Given the description of an element on the screen output the (x, y) to click on. 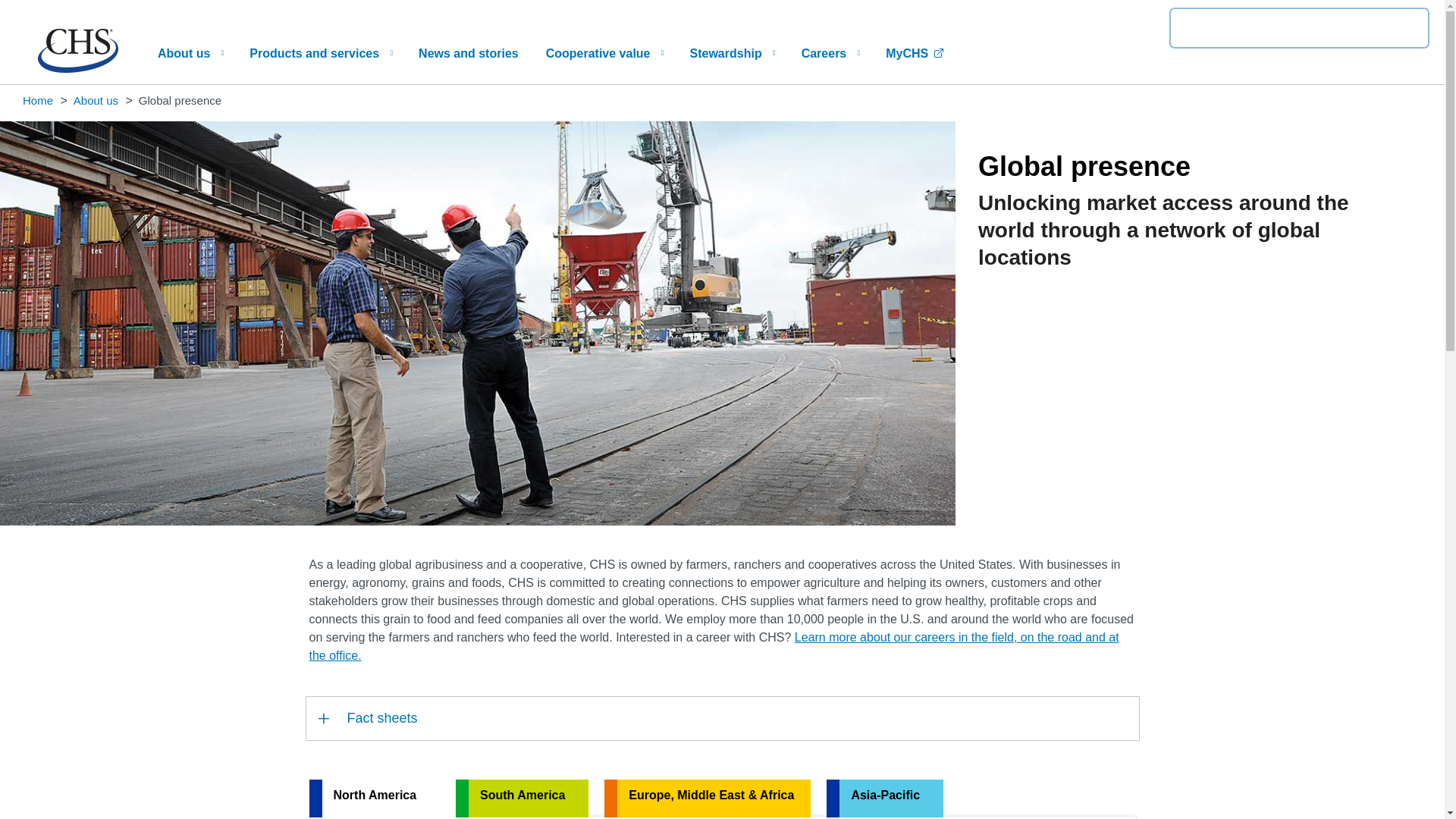
About us (189, 53)
Products and services (320, 53)
Cooperative value (604, 53)
Products and services (320, 53)
About us (189, 53)
News and stories (468, 53)
chs-logo (77, 68)
